Given the description of an element on the screen output the (x, y) to click on. 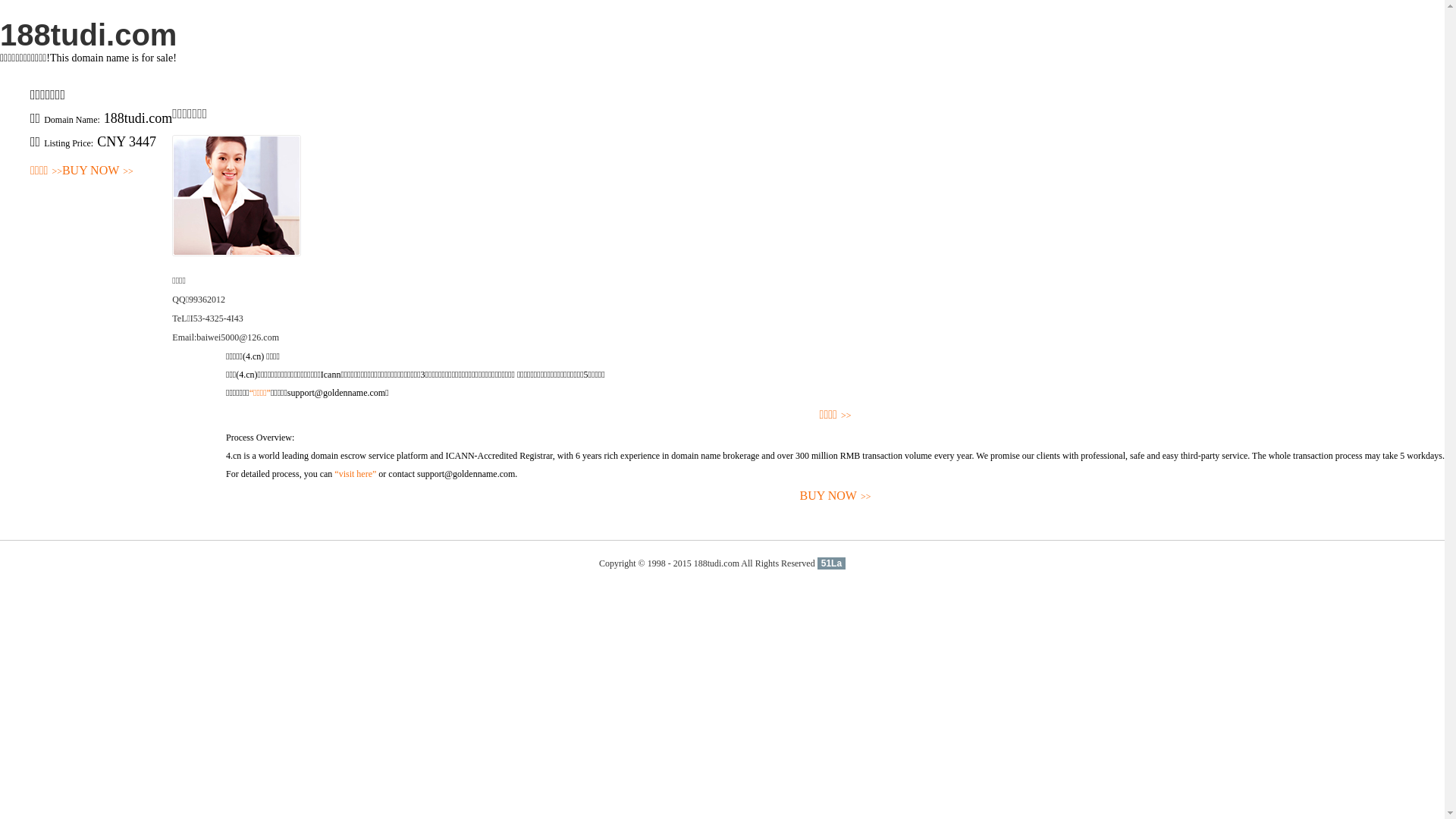
51La Element type: text (831, 563)
BUY NOW>> Element type: text (97, 170)
BUY NOW>> Element type: text (834, 496)
